Given the description of an element on the screen output the (x, y) to click on. 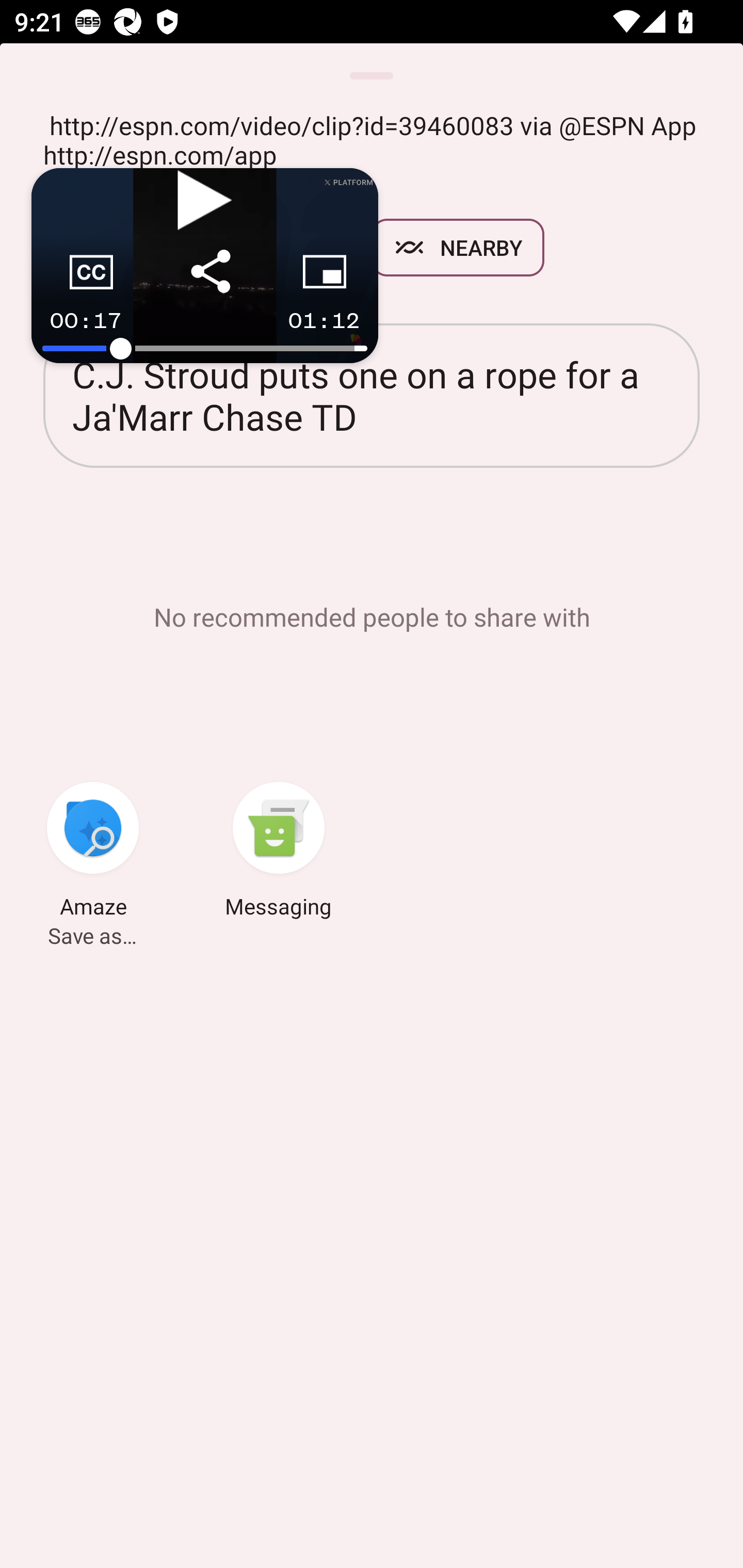
COPY (277, 247)
NEARBY (457, 247)
Amaze Save as… (92, 852)
Messaging (278, 852)
